Given the description of an element on the screen output the (x, y) to click on. 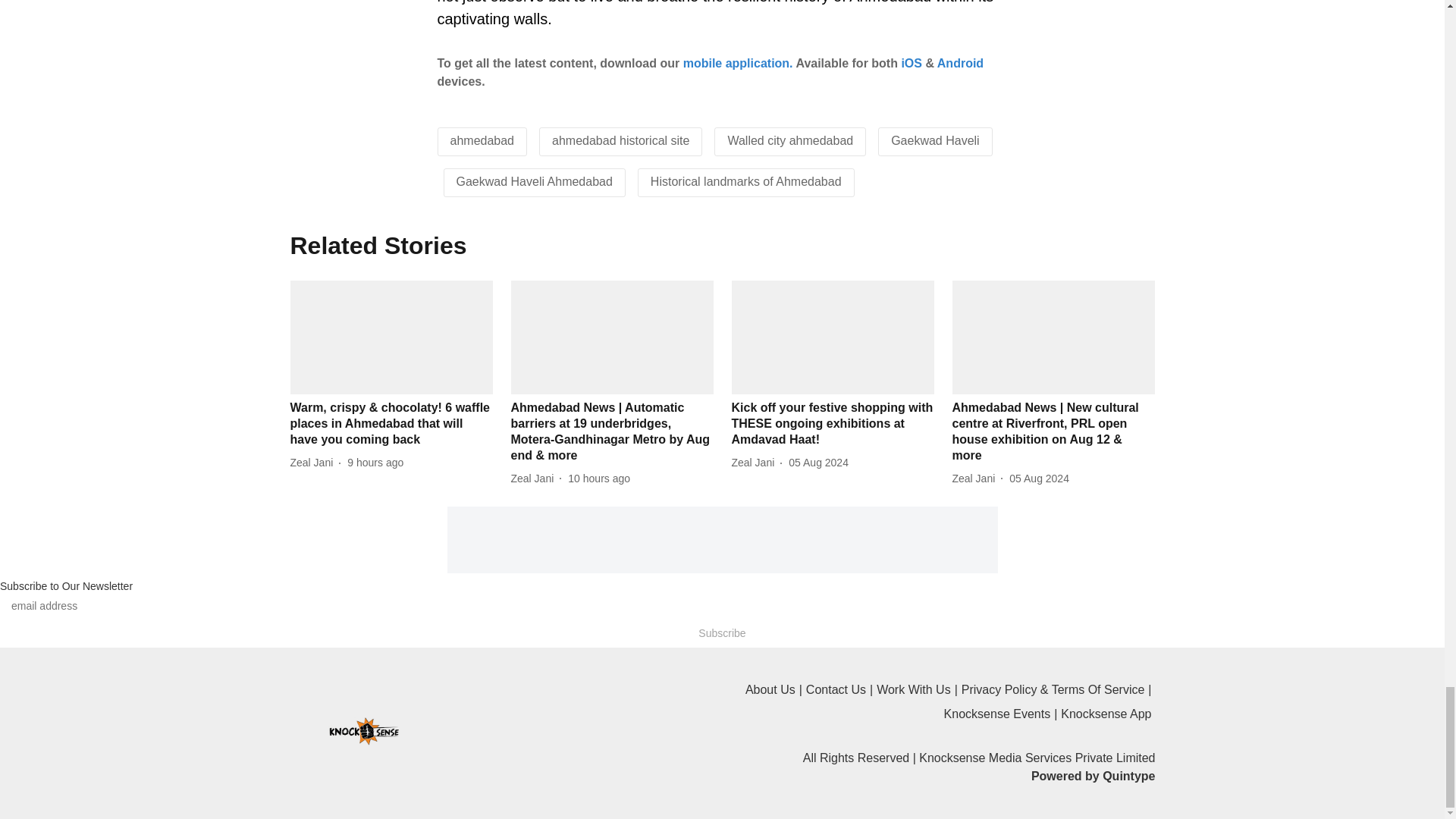
iOS (911, 62)
Zeal Jani (535, 478)
Gaekwad Haveli (935, 140)
Walled city ahmedabad (789, 140)
Android (960, 62)
Gaekwad Haveli Ahmedabad (534, 181)
2024-08-06 06:44 (598, 478)
2024-08-05 12:52 (818, 462)
Zeal Jani (314, 462)
mobile application. (737, 62)
2024-08-05 08:51 (1038, 478)
ahmedabad (482, 140)
2024-08-06 07:59 (375, 462)
Historical landmarks of Ahmedabad (745, 181)
